Given the description of an element on the screen output the (x, y) to click on. 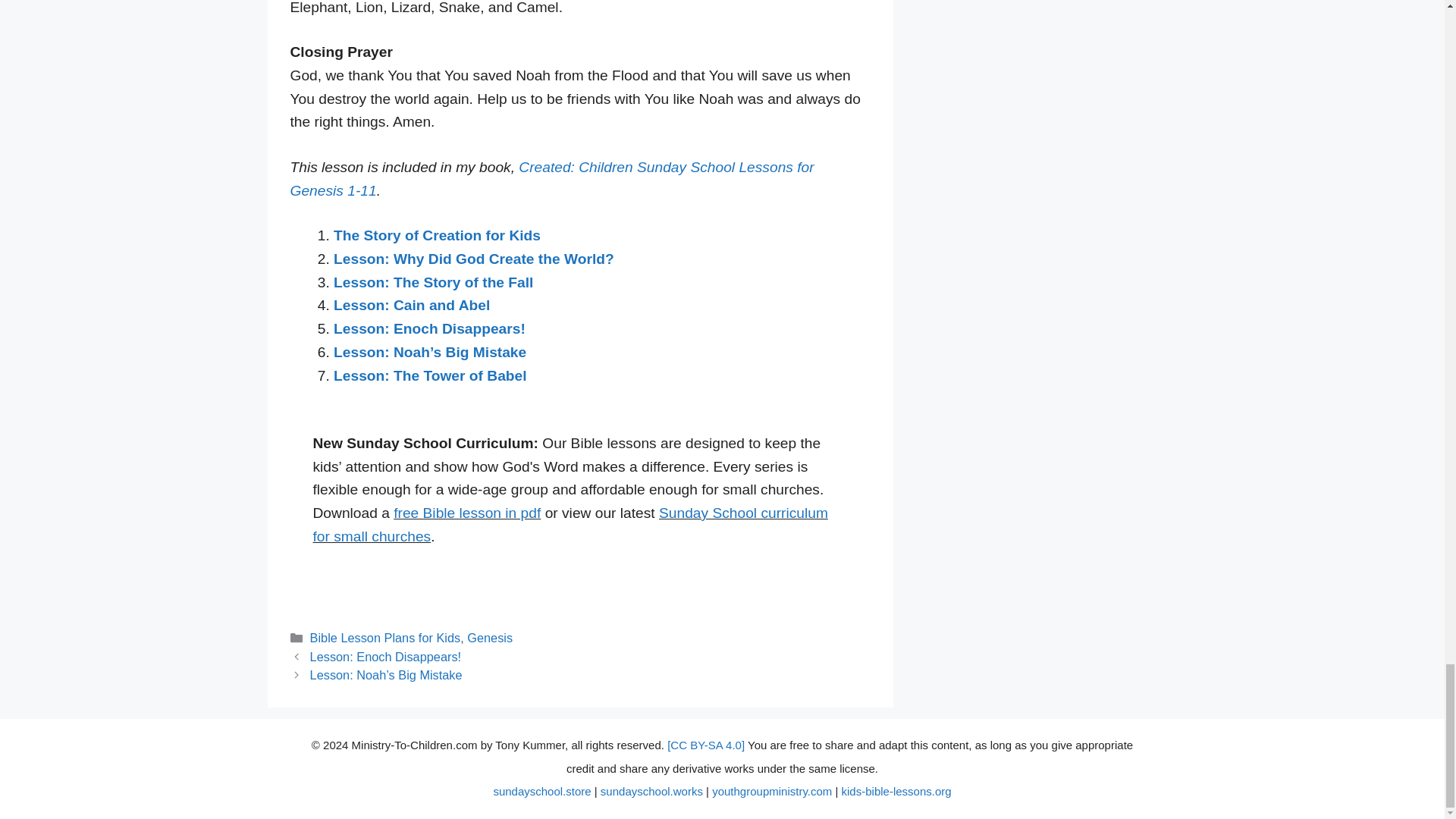
Lesson: The Story of the Fall (432, 282)
Lesson: Enoch Disappears! (385, 656)
Genesis (489, 637)
free Bible lesson in pdf (466, 512)
Lesson: Enoch Disappears! (429, 328)
Lesson: Why Did God Create the World? (473, 258)
Lesson: Cain and Abel (411, 304)
The Story of Creation for Kids (436, 235)
Lesson: Why Did God Create the World? (473, 258)
Lesson: The Tower of Babel (429, 374)
Bible Lesson Plans for Kids (385, 637)
Created: Children Sunday School Lessons for Genesis 1-11 (551, 178)
Lesson: The Story of the Fall (432, 282)
Lesson: The Tower of Babel (429, 374)
The Story of Creation for Kids (436, 235)
